Given the description of an element on the screen output the (x, y) to click on. 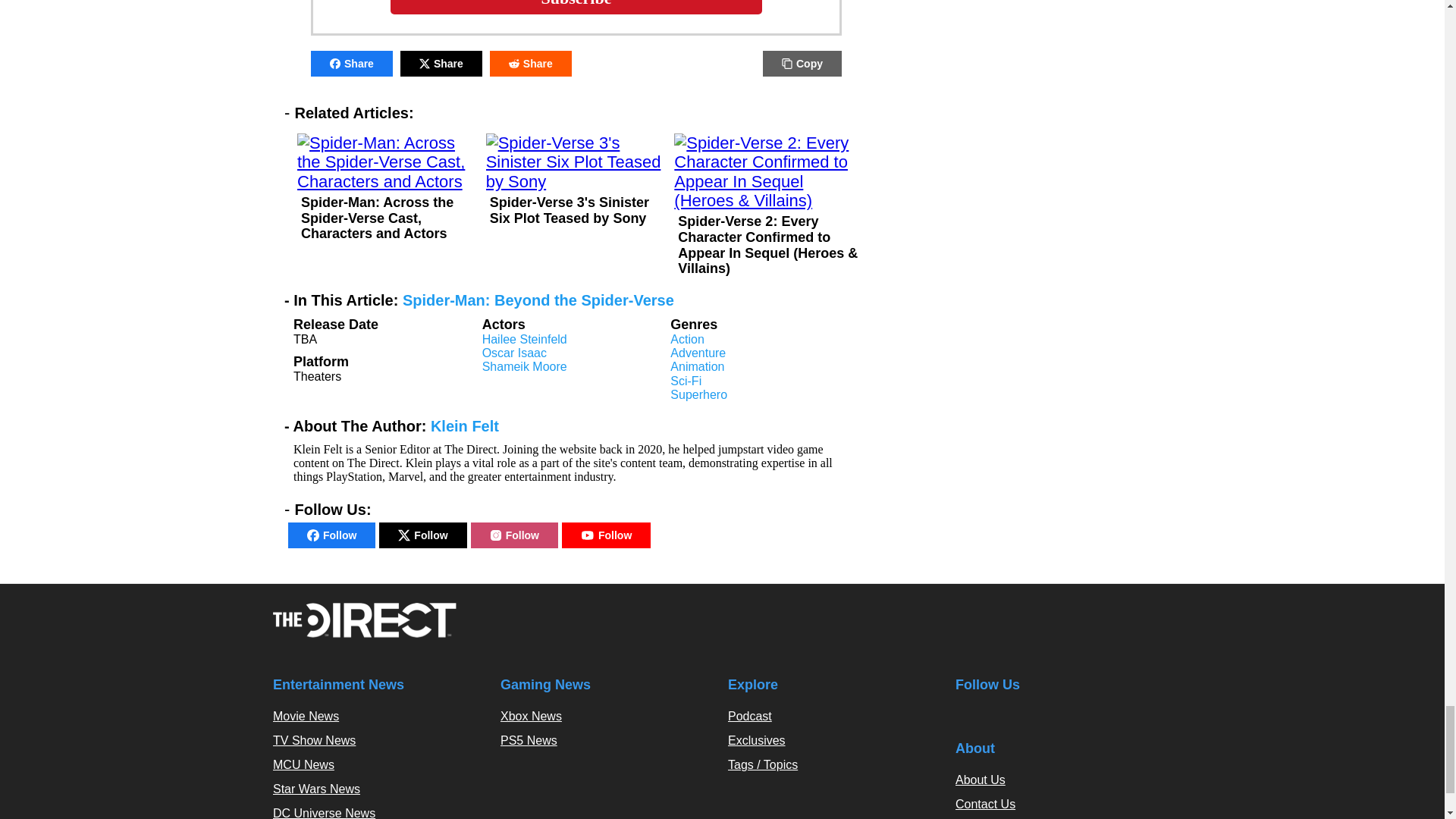
Share on Reddit (530, 63)
